Given the description of an element on the screen output the (x, y) to click on. 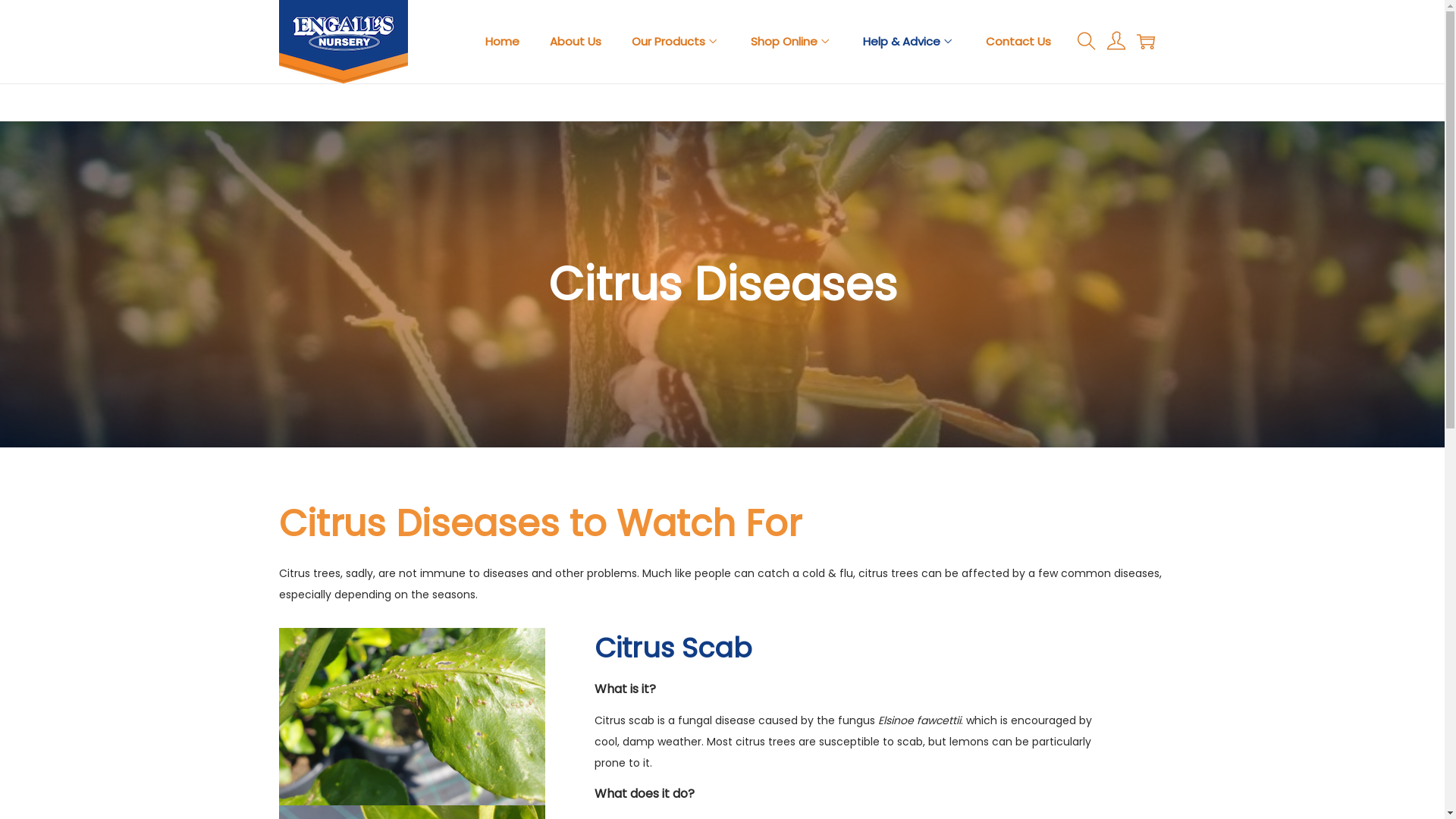
Contact Us Element type: text (1018, 41)
Skip to navigation Element type: text (277, 40)
Shop Online Element type: text (791, 41)
Search Element type: text (950, 428)
Our Products Element type: text (674, 41)
Home Element type: text (502, 41)
About Us Element type: text (574, 41)
Help & Advice Element type: text (908, 41)
